Given the description of an element on the screen output the (x, y) to click on. 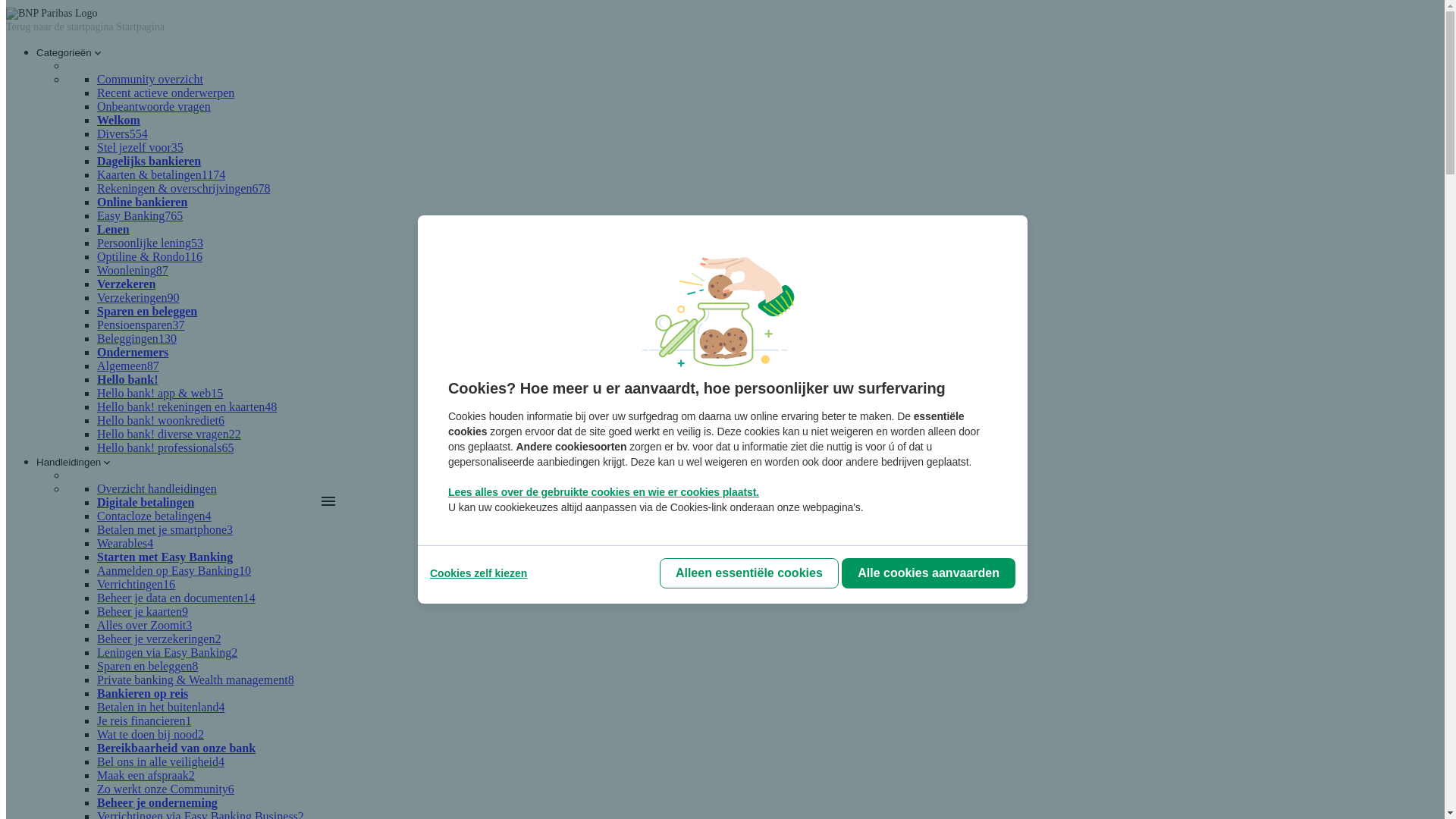
Bankieren op reis Element type: text (142, 693)
Hello bank! professionals65 Element type: text (165, 447)
Private banking & Wealth management8 Element type: text (195, 679)
Lenen Element type: text (113, 228)
Startpagina Element type: text (140, 26)
Pensioensparen37 Element type: text (141, 324)
Hello bank! rekeningen en kaarten48 Element type: text (186, 406)
Beheer je onderneming Element type: text (157, 802)
Betalen met je smartphone3 Element type: text (164, 529)
Terug naar de startpagina Element type: text (61, 26)
Contacloze betalingen4 Element type: text (154, 515)
Dagelijks bankieren Element type: text (148, 160)
Hello bank! diverse vragen22 Element type: text (169, 433)
Wearables4 Element type: text (125, 542)
Verzekeringen90 Element type: text (137, 297)
Hello bank! Element type: text (127, 379)
Ondernemers Element type: text (132, 351)
Leningen via Easy Banking2 Element type: text (167, 652)
Stel jezelf voor35 Element type: text (140, 147)
Rekeningen & overschrijvingen678 Element type: text (183, 188)
Betalen in het buitenland4 Element type: text (160, 706)
Maak een afspraak2 Element type: text (145, 774)
Recent actieve onderwerpen Element type: text (165, 92)
Optiline & Rondo116 Element type: text (149, 256)
Je reis financieren1 Element type: text (144, 720)
Overzicht handleidingen Element type: text (156, 488)
Divers554 Element type: text (122, 133)
Zo werkt onze Community6 Element type: text (165, 788)
Woonlening87 Element type: text (132, 269)
Online bankieren Element type: text (142, 201)
Sparen en beleggen8 Element type: text (147, 665)
Bereikbaarheid van onze bank Element type: text (176, 747)
Aanmelden op Easy Banking10 Element type: text (174, 570)
Handleidingen Element type: text (74, 462)
Welkom Element type: text (118, 119)
Verrichtingen16 Element type: text (136, 583)
Kaarten & betalingen1174 Element type: text (161, 174)
Algemeen87 Element type: text (128, 365)
Beleggingen130 Element type: text (136, 338)
Community overzicht Element type: text (150, 78)
Persoonlijke lening53 Element type: text (150, 242)
Bel ons in alle veiligheid4 Element type: text (160, 761)
Wat te doen bij nood2 Element type: text (150, 734)
Beheer je verzekeringen2 Element type: text (158, 638)
Starten met Easy Banking Element type: text (164, 556)
Beheer je kaarten9 Element type: text (142, 611)
Beheer je data en documenten14 Element type: text (176, 597)
Verzekeren Element type: text (126, 283)
Onbeantwoorde vragen Element type: text (153, 106)
Sparen en beleggen Element type: text (147, 310)
Alles over Zoomit3 Element type: text (144, 624)
Hello bank! woonkrediet6 Element type: text (160, 420)
Easy Banking765 Element type: text (139, 215)
Digitale betalingen Element type: text (145, 501)
Hello bank! app & web15 Element type: text (159, 392)
